Given the description of an element on the screen output the (x, y) to click on. 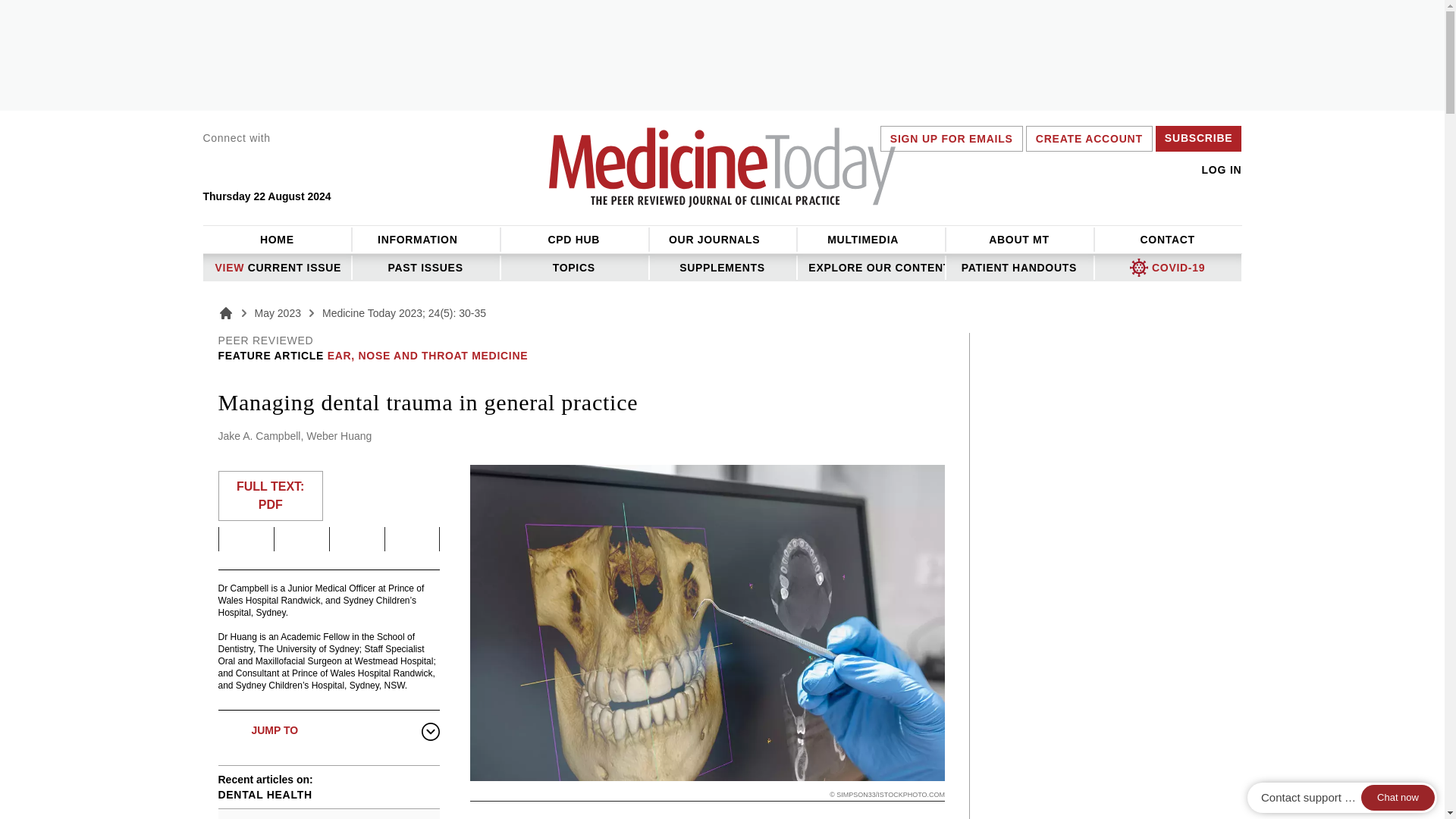
MULTIMEDIA (870, 239)
HOME (277, 239)
TOPICS (573, 267)
CPD HUB (573, 239)
3rd party ad content (1097, 694)
OUR JOURNALS (721, 239)
SUBSCRIBE (1198, 137)
CREATE ACCOUNT (1088, 138)
SUPPLEMENTS (721, 267)
EXPLORE OUR CONTENT (870, 267)
